Given the description of an element on the screen output the (x, y) to click on. 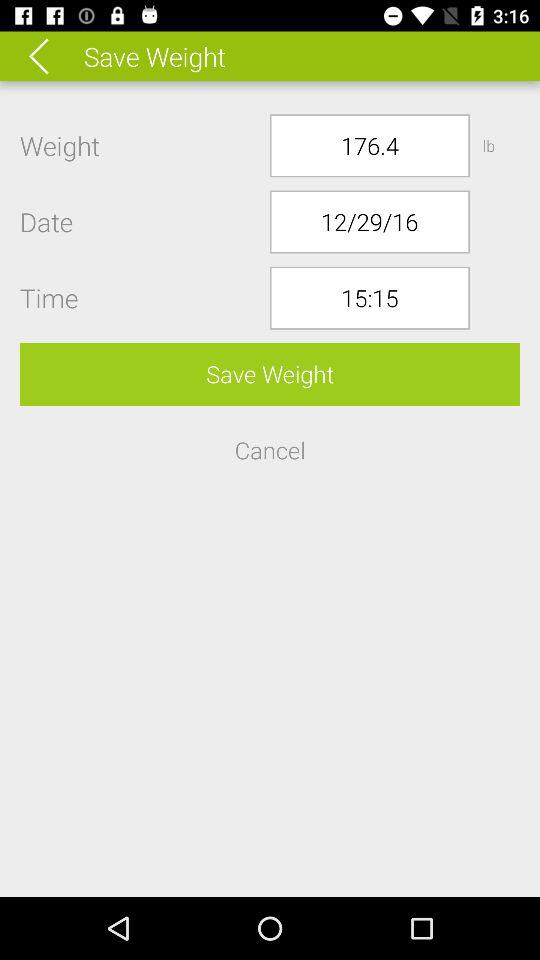
turn off the app next to save weight app (52, 56)
